Given the description of an element on the screen output the (x, y) to click on. 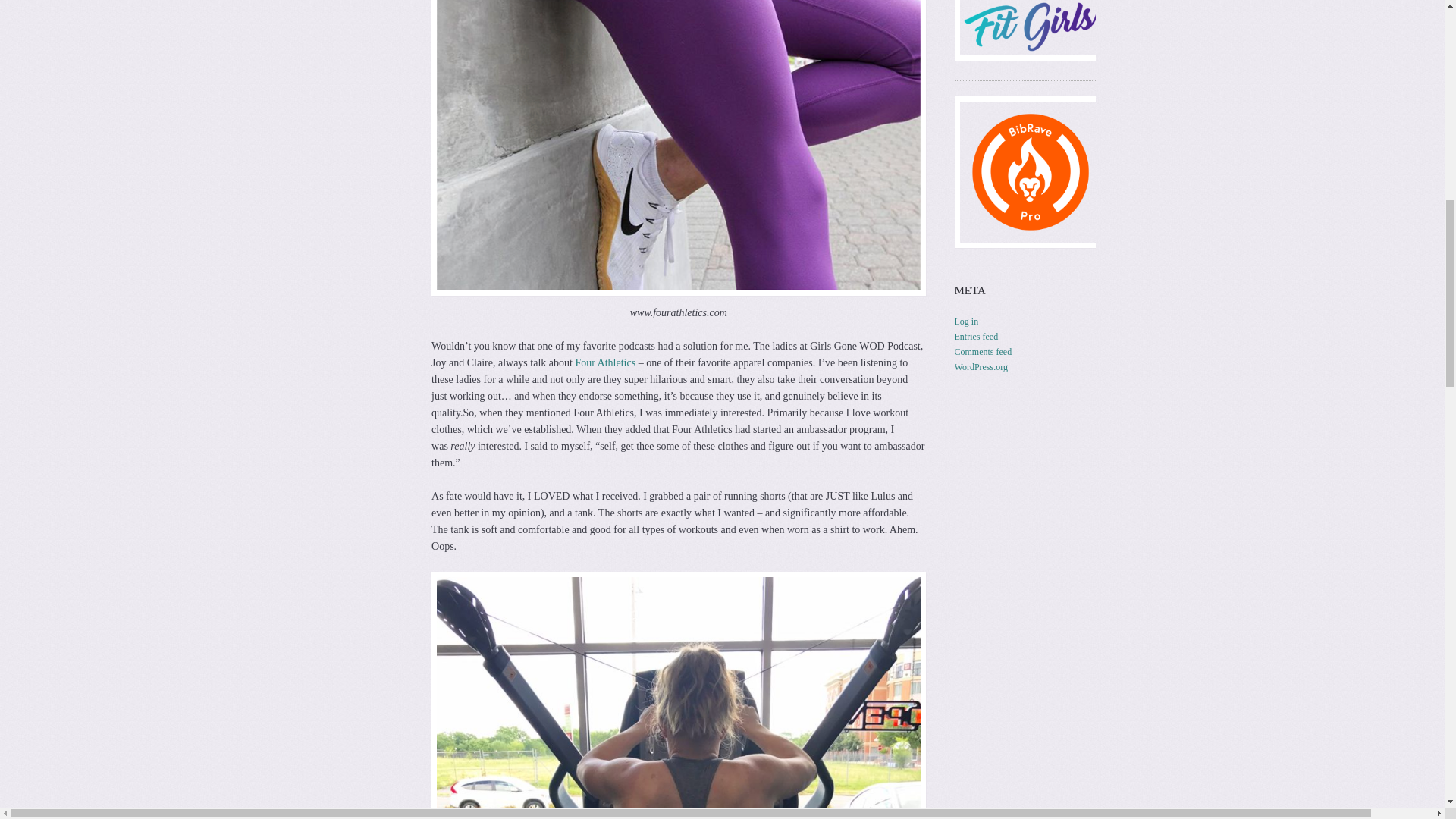
Four Athletics (604, 362)
